Given the description of an element on the screen output the (x, y) to click on. 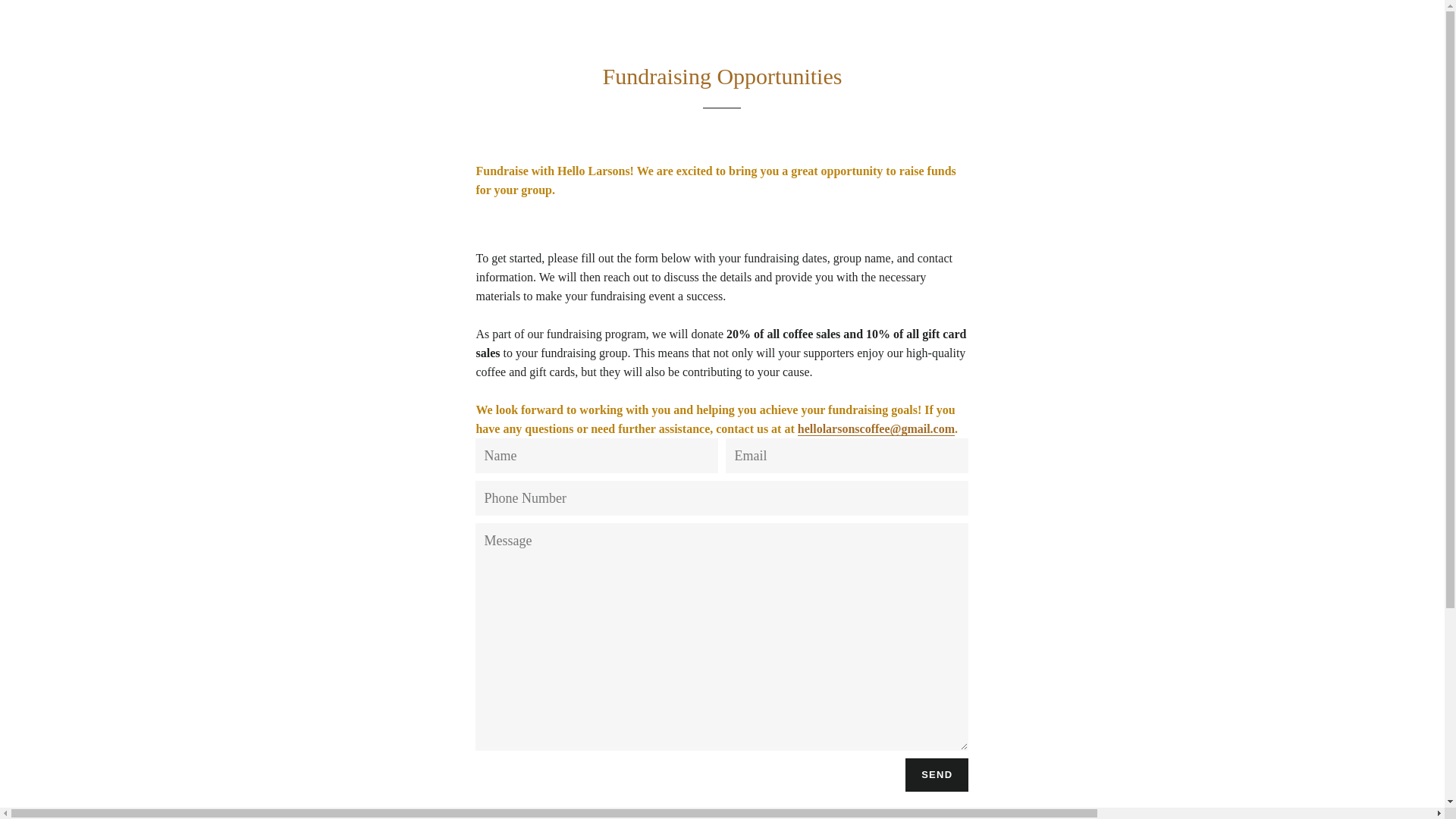
Send (936, 774)
Send (936, 774)
